Given the description of an element on the screen output the (x, y) to click on. 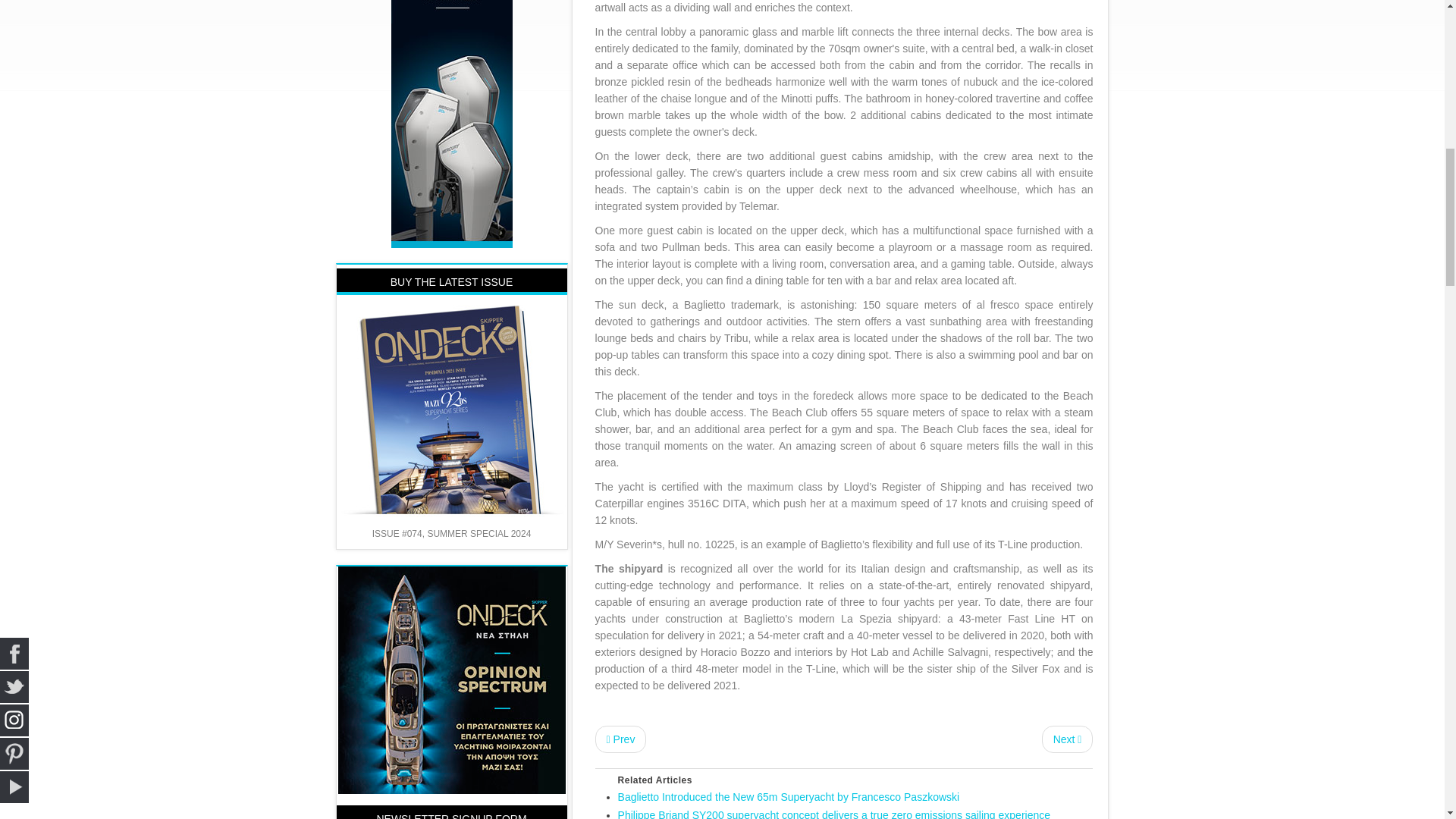
Zois Mercury Avator Side (451, 19)
